Given the description of an element on the screen output the (x, y) to click on. 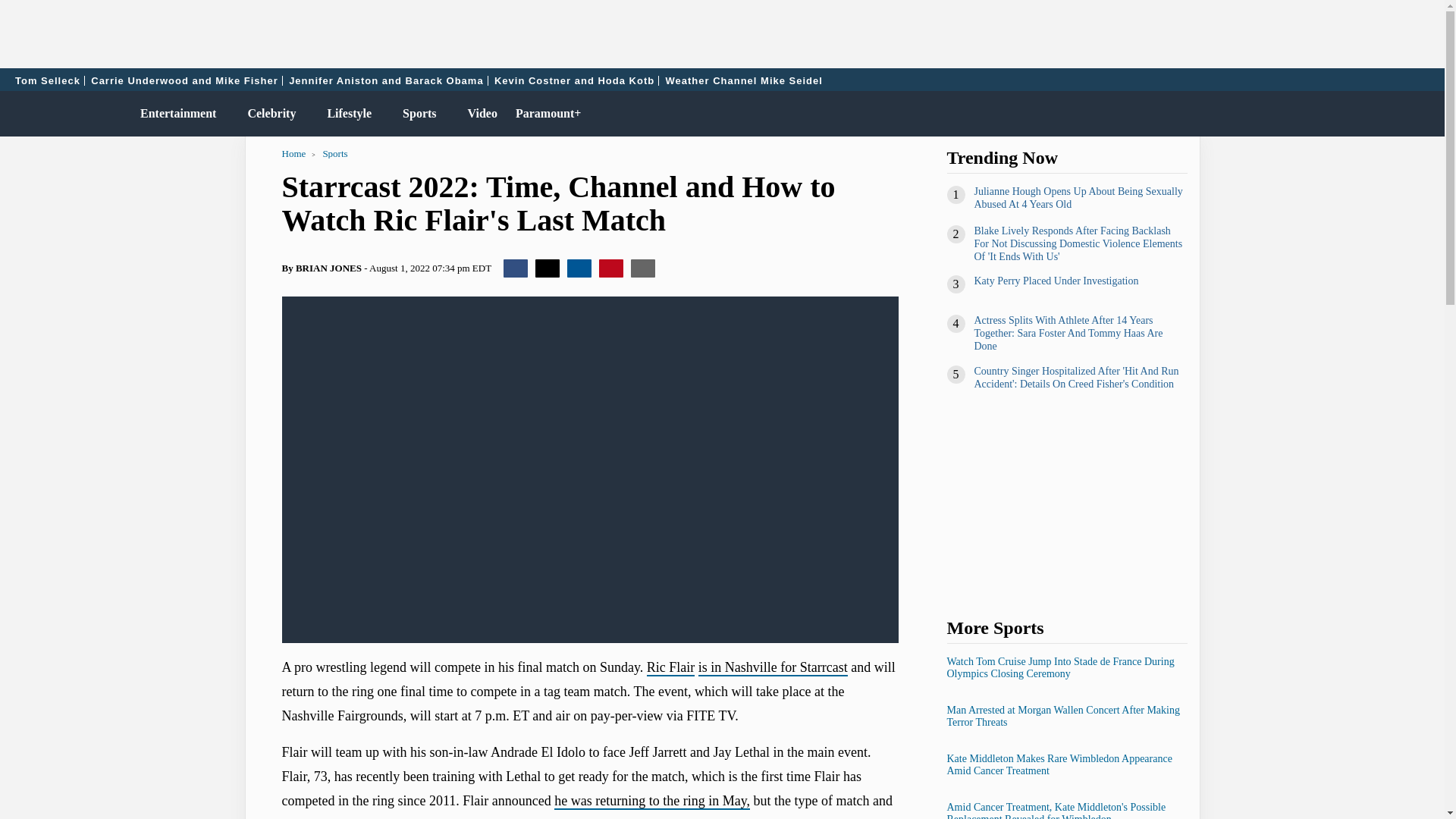
Dark Mode (1394, 113)
Tom Selleck (47, 80)
Kevin Costner and Hoda Kotb (574, 80)
Search (1426, 114)
Jennifer Aniston and Barack Obama (385, 80)
Carrie Underwood and Mike Fisher (184, 80)
Lifestyle (345, 113)
Celebrity (267, 113)
Video (479, 113)
Sports (416, 113)
